Given the description of an element on the screen output the (x, y) to click on. 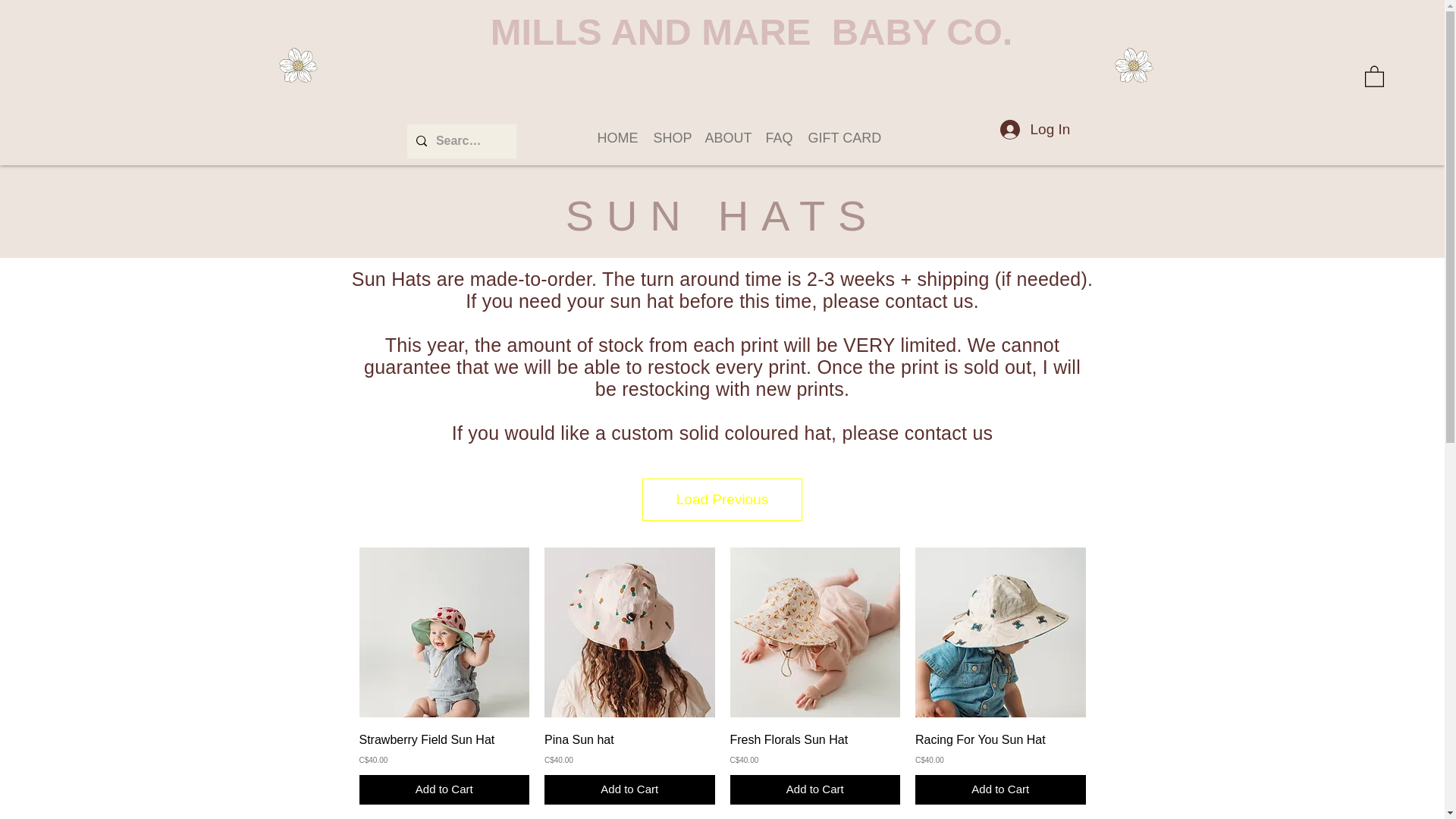
Add to Cart (444, 789)
Add to Cart (1000, 789)
GIFT CARD (843, 137)
Log In (1034, 129)
HOME (616, 137)
ABOUT (727, 137)
FAQ (779, 137)
Add to Cart (814, 789)
Load Previous (722, 499)
Add to Cart (629, 789)
SHOP (671, 137)
